Given the description of an element on the screen output the (x, y) to click on. 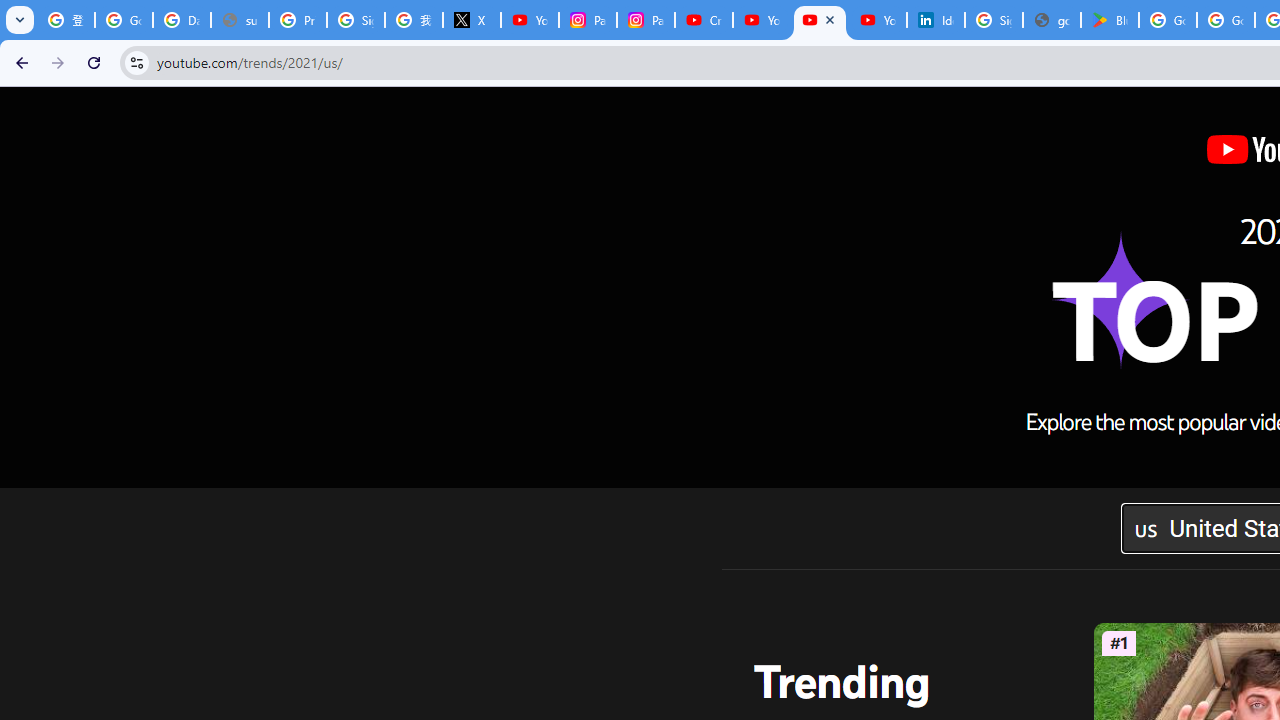
YouTube Culture & Trends - YouTube Top 10, 2021 (877, 20)
YouTube Culture & Trends - YouTube Top 10, 2021 (819, 20)
X (471, 20)
support.google.com - Network error (239, 20)
Privacy Help Center - Policies Help (297, 20)
